Given the description of an element on the screen output the (x, y) to click on. 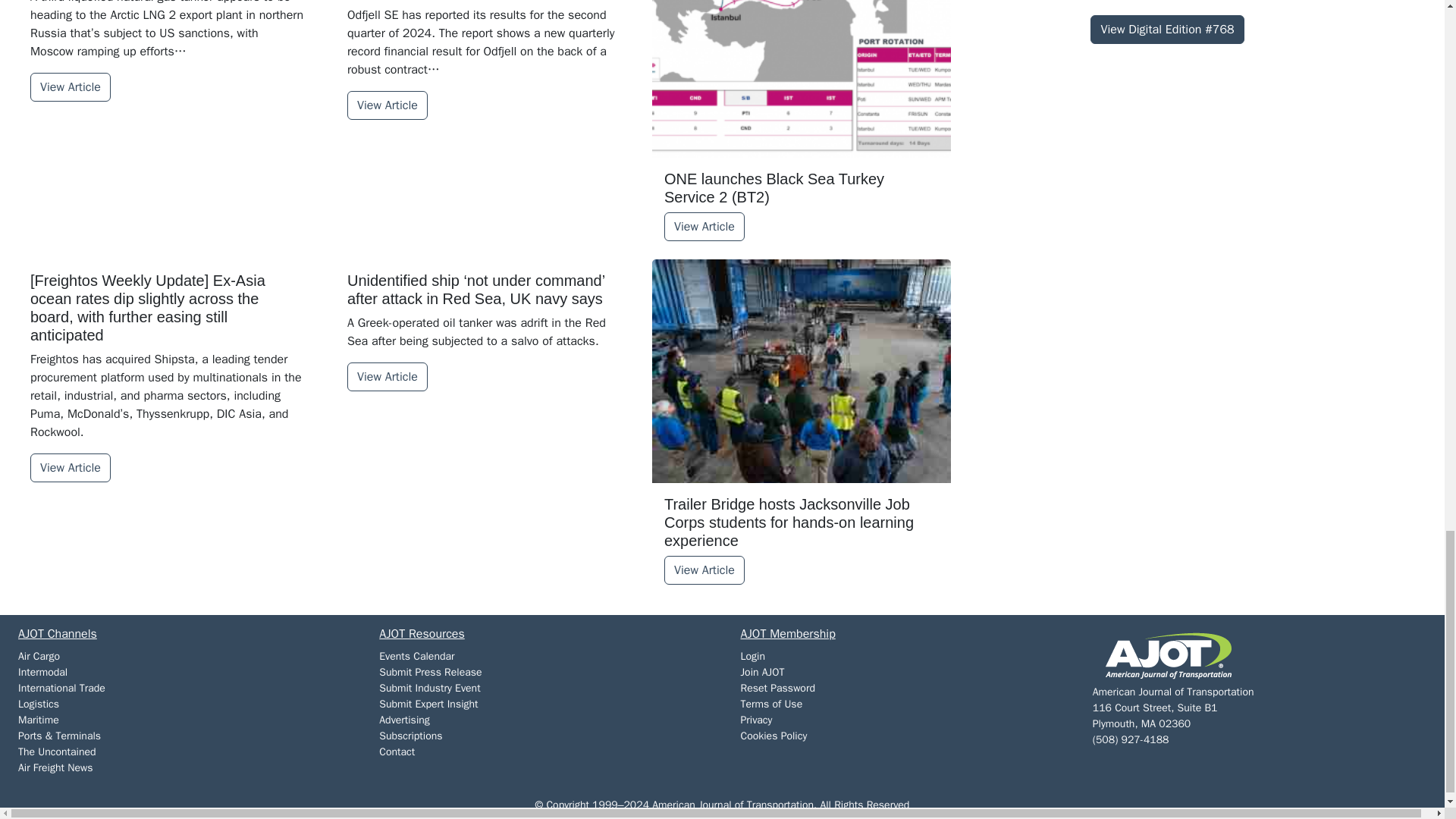
Maritime transportation, goods, services and regulation news (38, 719)
Visit Air Freight News (55, 767)
View Article (70, 86)
News from the intermodal freight transportation industry. (41, 671)
Visit The Uncontained (56, 751)
View Article (387, 104)
View Article (703, 226)
